Given the description of an element on the screen output the (x, y) to click on. 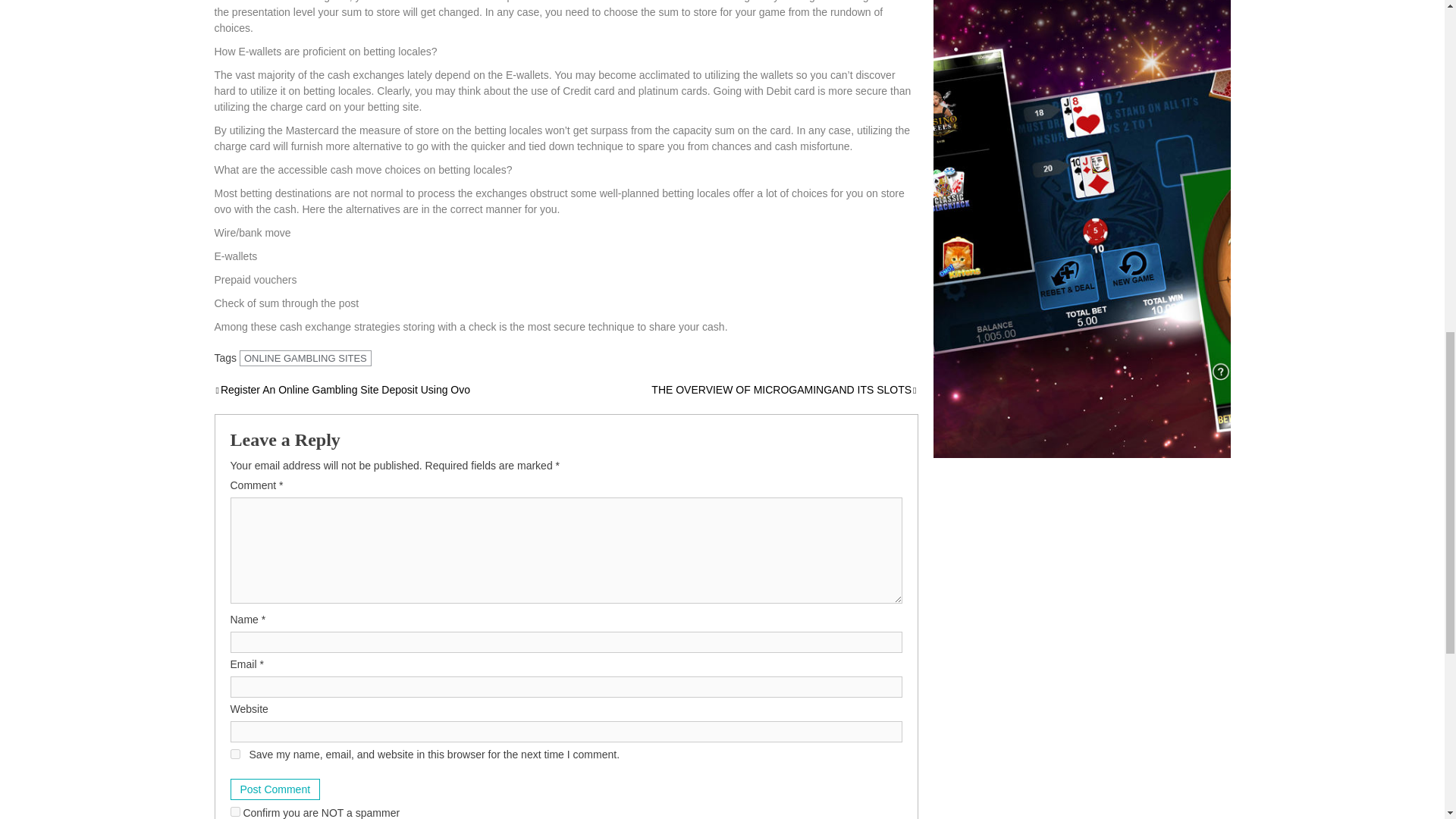
yes (235, 754)
Register An Online Gambling Site Deposit Using Ovo (342, 389)
Post Comment (275, 789)
on (235, 811)
Post Comment (275, 789)
THE OVERVIEW OF MICROGAMINGAND ITS SLOTS (783, 389)
ONLINE GAMBLING SITES (305, 358)
